Given the description of an element on the screen output the (x, y) to click on. 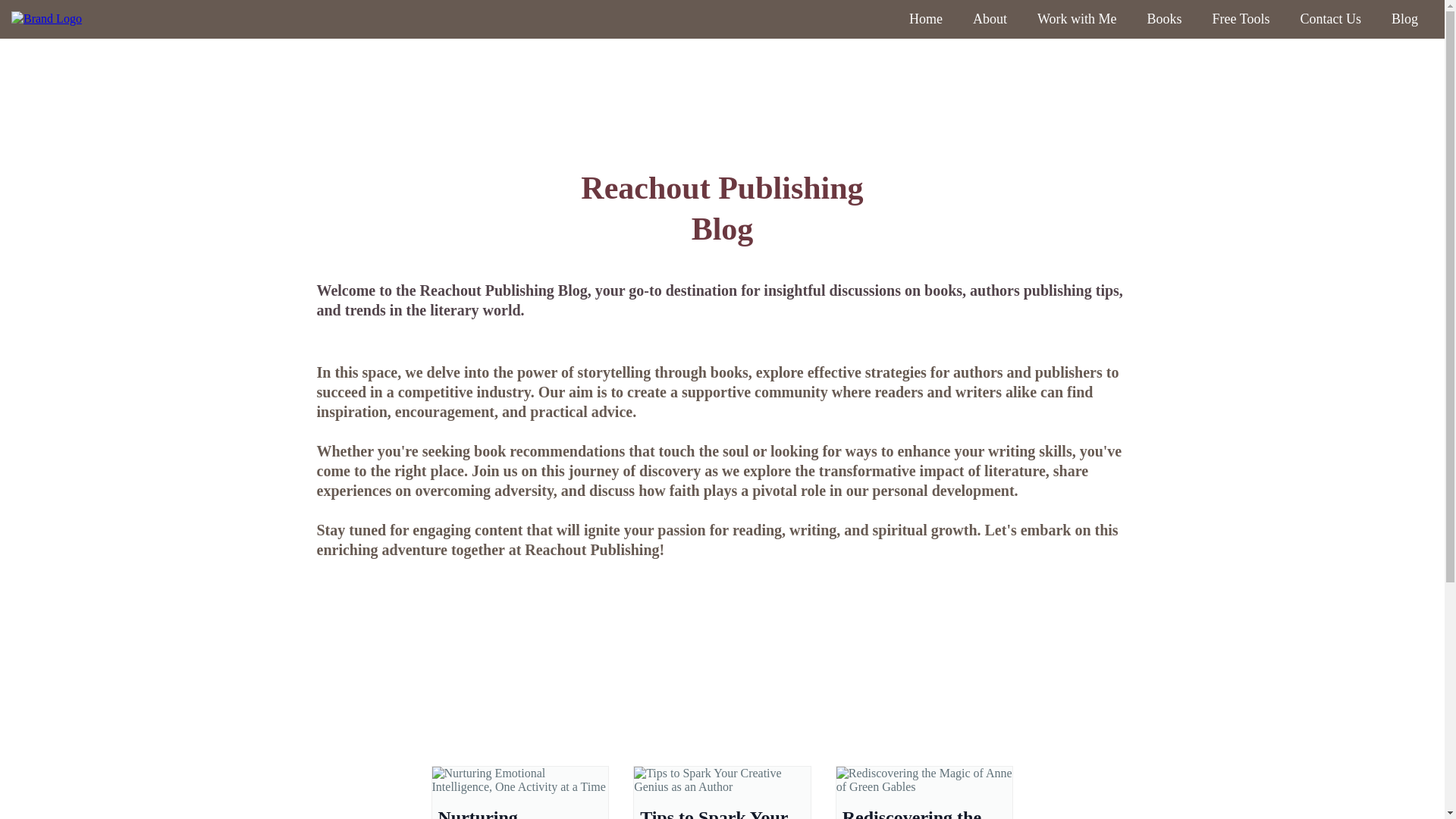
Free Tools (1240, 19)
Tips to Spark Your Creative Genius as an Author (713, 813)
About (990, 19)
Books (1164, 19)
Nurturing Emotional Intelligence, One Activity at a Time (508, 813)
Blog (1403, 19)
Home (925, 19)
Rediscovering the Magic of Anne of Green Gables (912, 813)
Work with Me (1077, 19)
Contact Us (1329, 19)
